Given the description of an element on the screen output the (x, y) to click on. 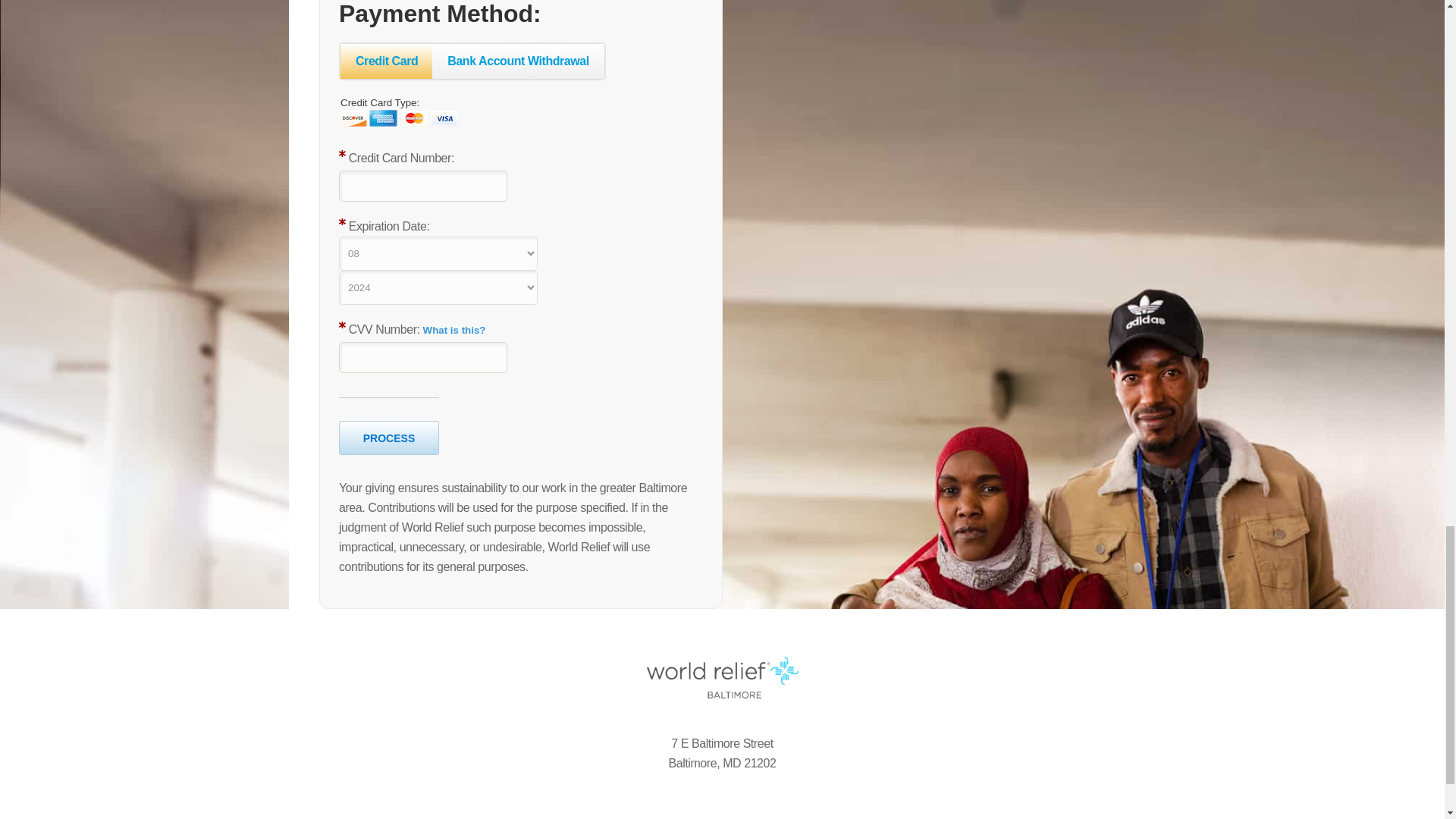
What is this? Opens new window. (454, 329)
Bank Account Withdrawal (517, 60)
What is this? (454, 329)
World Relief (721, 677)
PROCESS (389, 437)
Credit Card (386, 60)
